Given the description of an element on the screen output the (x, y) to click on. 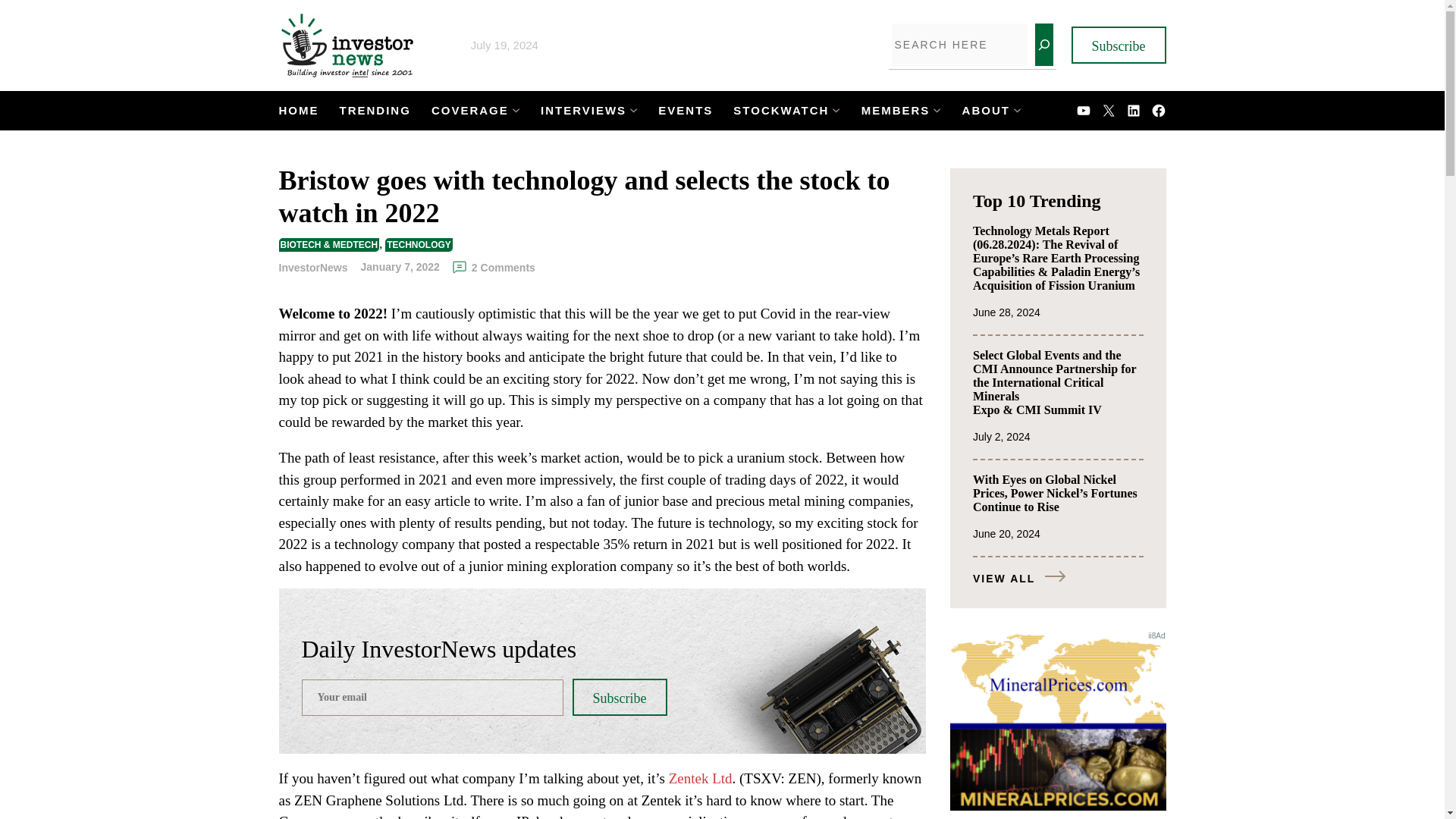
MEMBERS (895, 110)
ABOUT (986, 110)
Subscribe (619, 696)
HOME (298, 110)
STOCKWATCH (780, 110)
Subscribe (1118, 44)
TRENDING (374, 110)
INTERVIEWS (583, 110)
EVENTS (685, 110)
COVERAGE (469, 110)
